Given the description of an element on the screen output the (x, y) to click on. 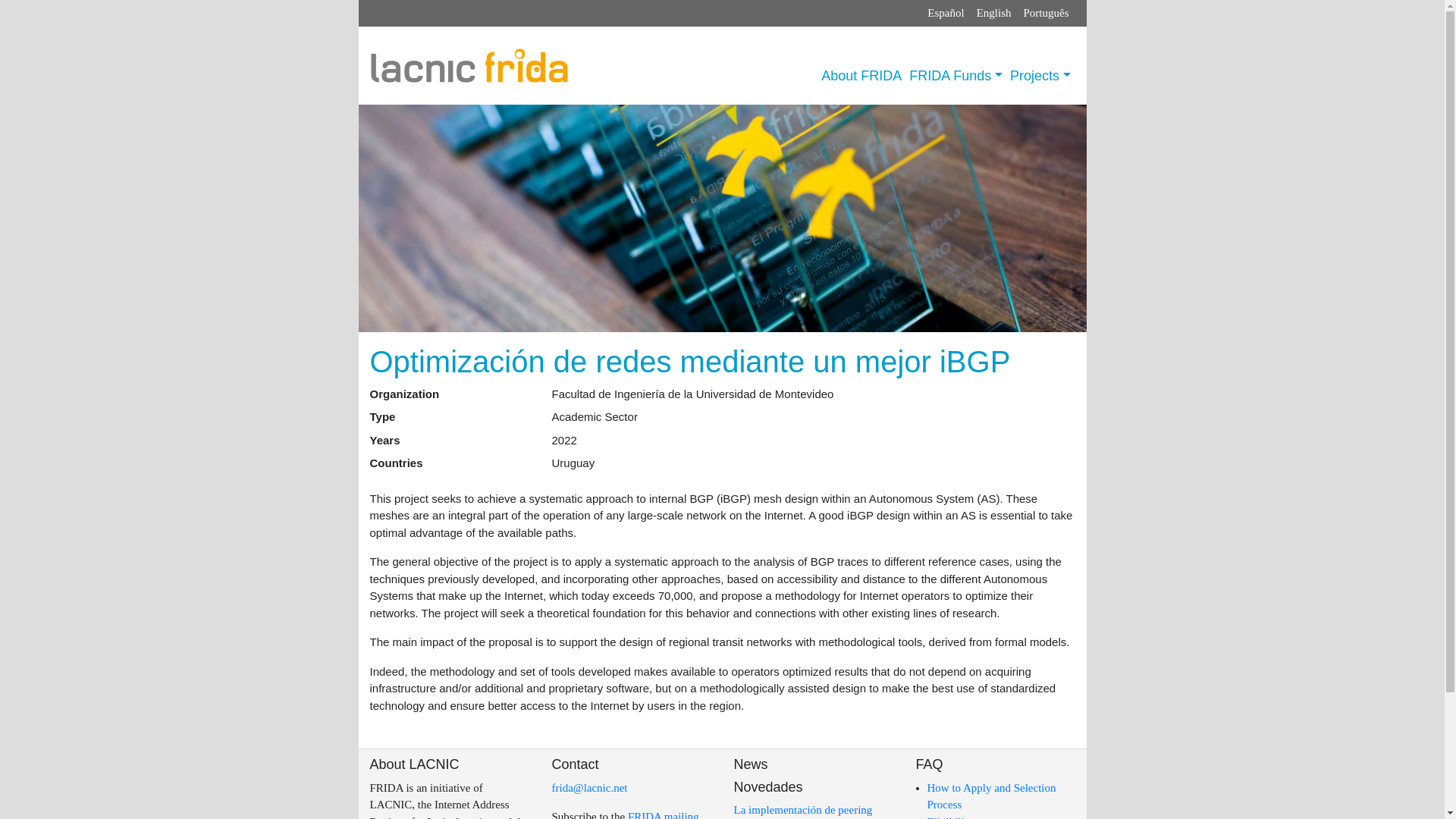
English (994, 13)
Novedades (768, 786)
FRIDA Funds (955, 75)
FRIDA mailing list (624, 814)
News (750, 764)
Projects (1040, 75)
English (994, 13)
Eligibility (949, 817)
How to Apply and Selection Process (990, 796)
About FRIDA (860, 75)
